Given the description of an element on the screen output the (x, y) to click on. 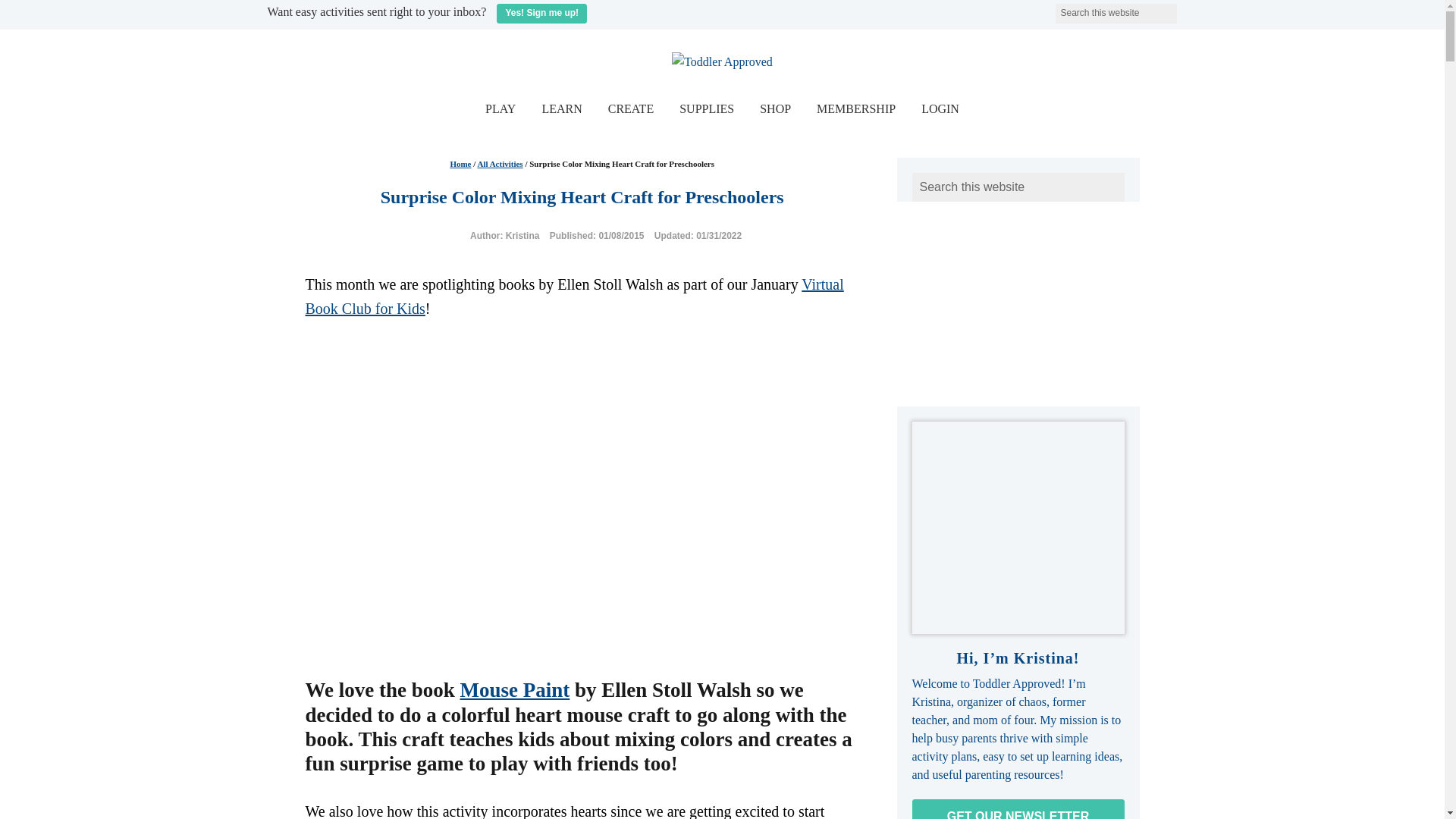
Search (1185, 8)
Search (1185, 8)
Yes! Sign me up! (541, 13)
Search (1185, 8)
